Given the description of an element on the screen output the (x, y) to click on. 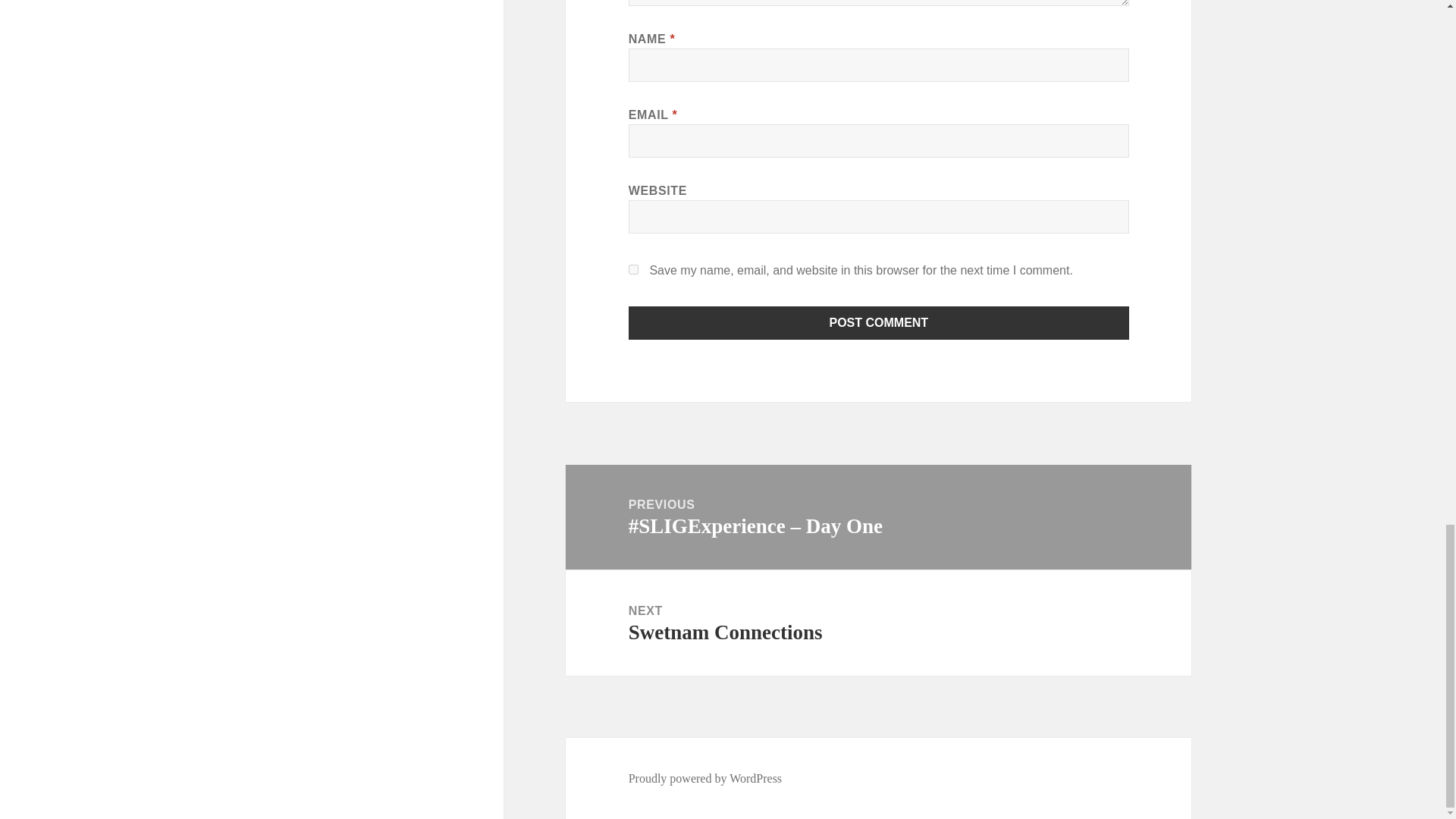
yes (633, 269)
Post Comment (878, 322)
Proudly powered by WordPress (878, 622)
Post Comment (704, 778)
